Given the description of an element on the screen output the (x, y) to click on. 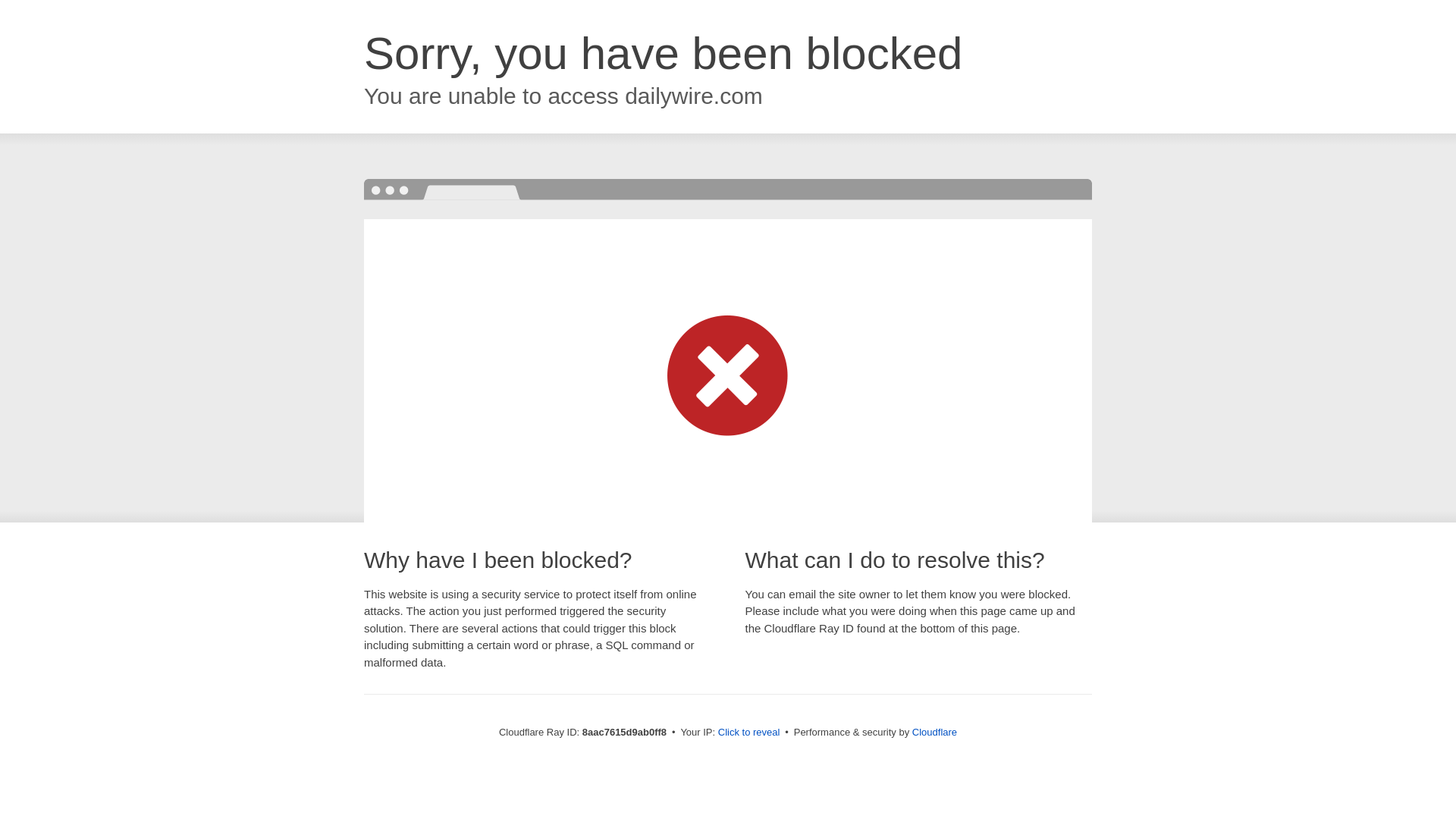
Cloudflare (934, 731)
Click to reveal (748, 732)
